Given the description of an element on the screen output the (x, y) to click on. 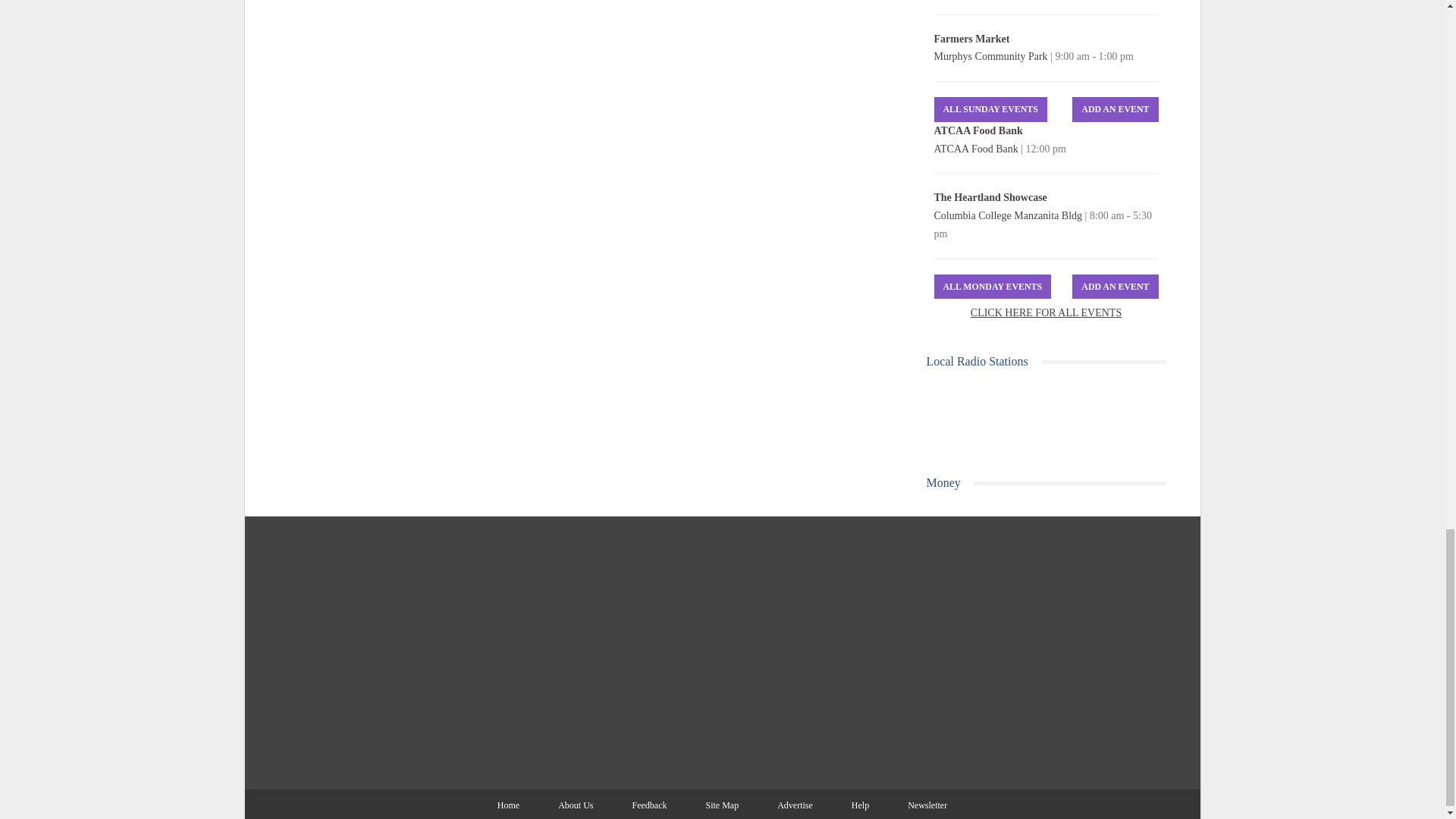
All Sunday Events (990, 109)
Add An Event (1114, 109)
Add An Event (1114, 286)
All Monday Events (992, 286)
